Given the description of an element on the screen output the (x, y) to click on. 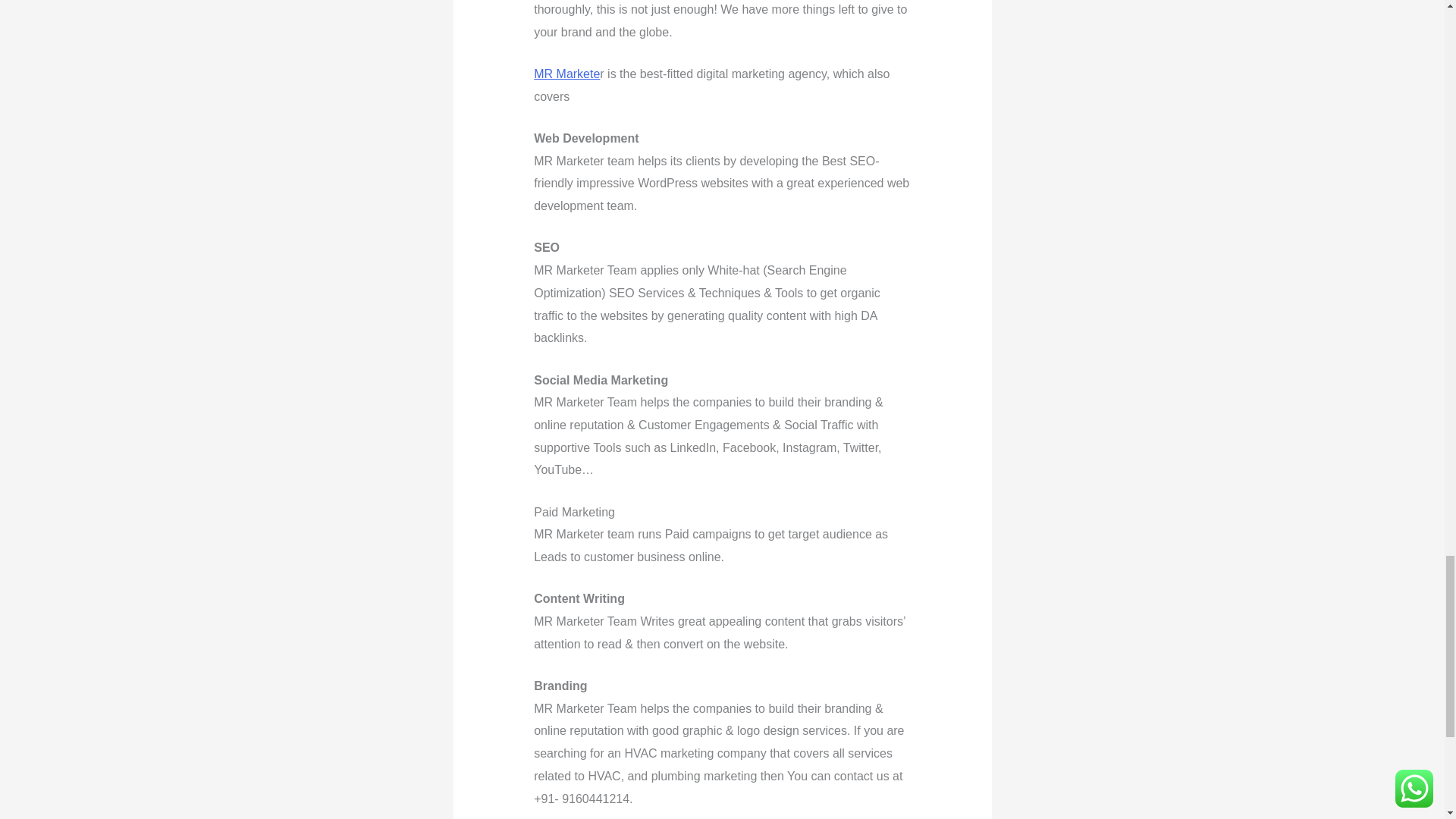
MR Markete (566, 73)
